Given the description of an element on the screen output the (x, y) to click on. 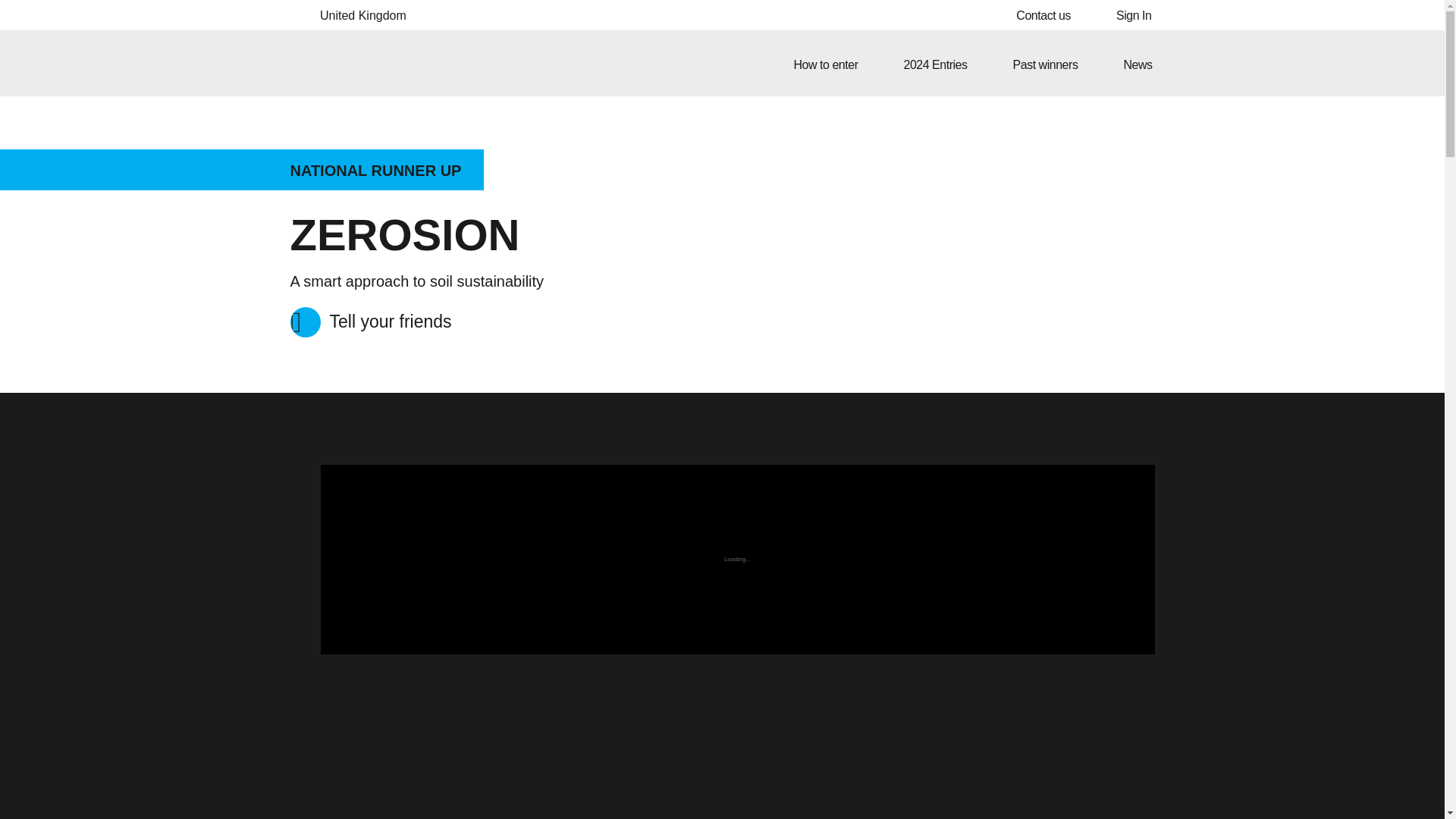
Where are they now (998, 134)
Past winners (1045, 63)
How to enter (825, 63)
Tell your friends (370, 320)
News (1137, 63)
Contact us (350, 16)
Sign In (1043, 15)
2024 Entries (1133, 15)
The James Dyson Award (934, 63)
FAQ (313, 63)
